Given the description of an element on the screen output the (x, y) to click on. 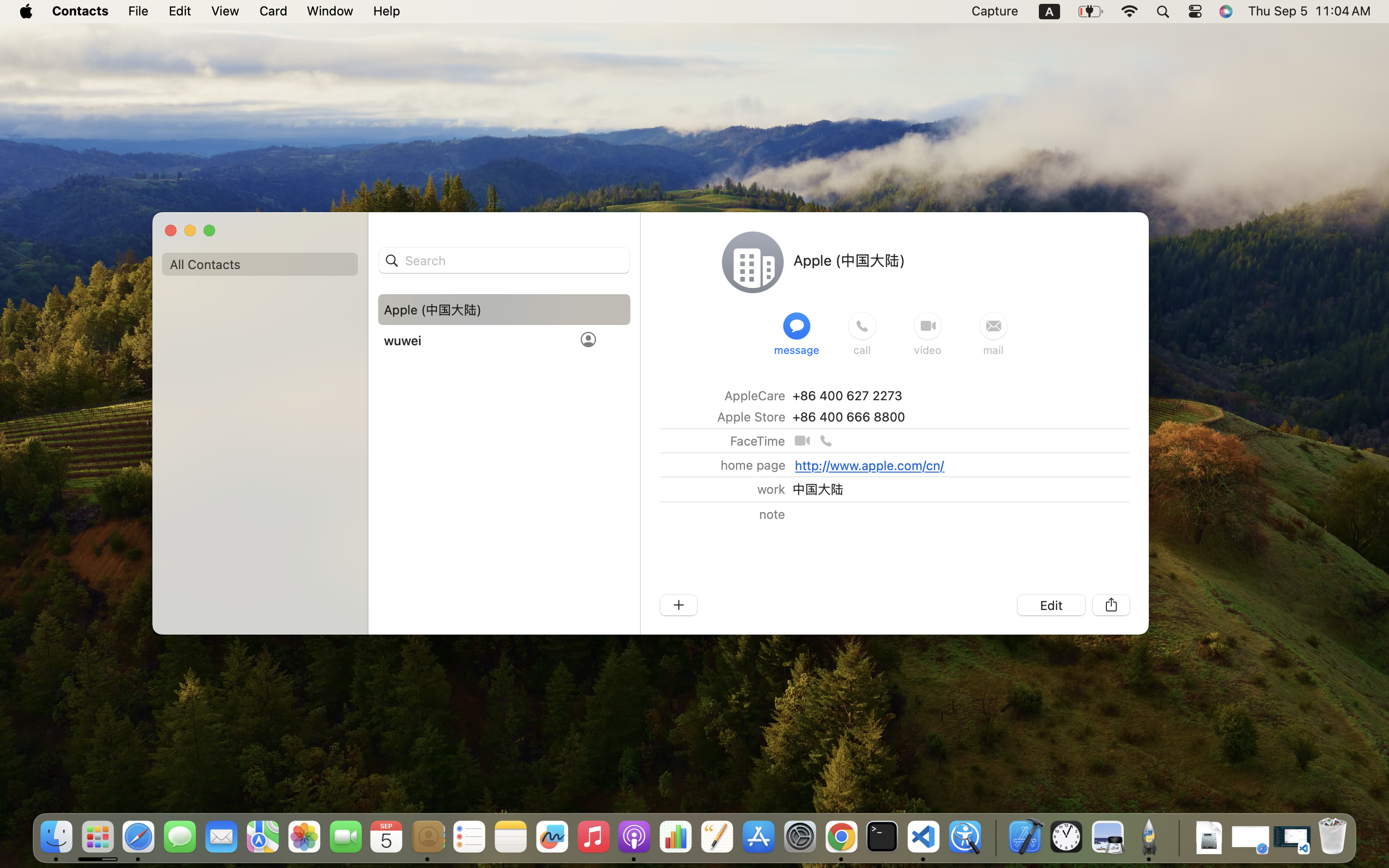
All Contacts Element type: AXStaticText (259, 263)
‭+86 400 666 8800‬ Element type: AXStaticText (847, 416)
note Element type: AXStaticText (772, 513)
Apple (中国大陆) Element type: AXStaticText (848, 259)
